Given the description of an element on the screen output the (x, y) to click on. 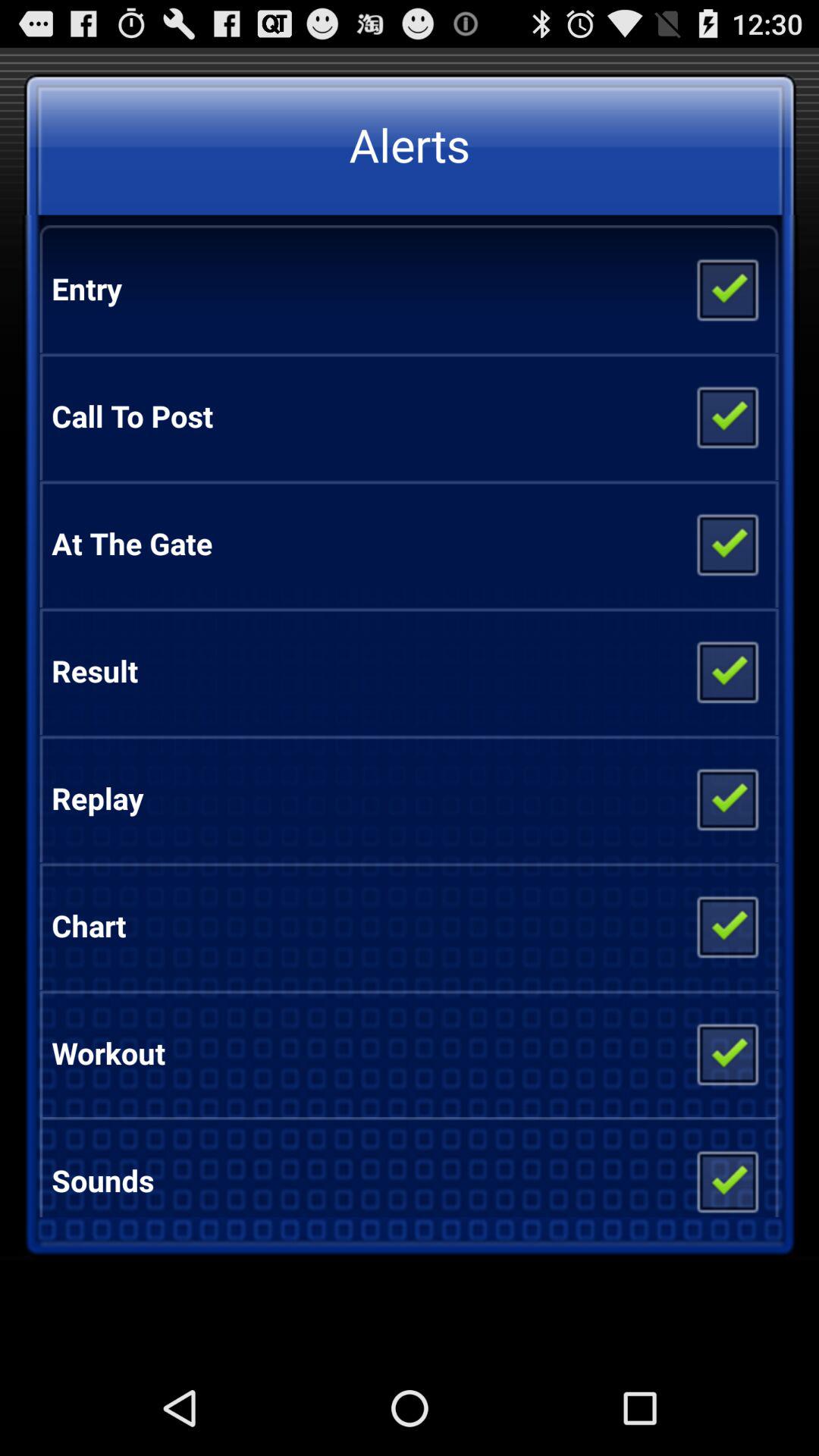
turn off app to the right of workout (726, 1053)
